Given the description of an element on the screen output the (x, y) to click on. 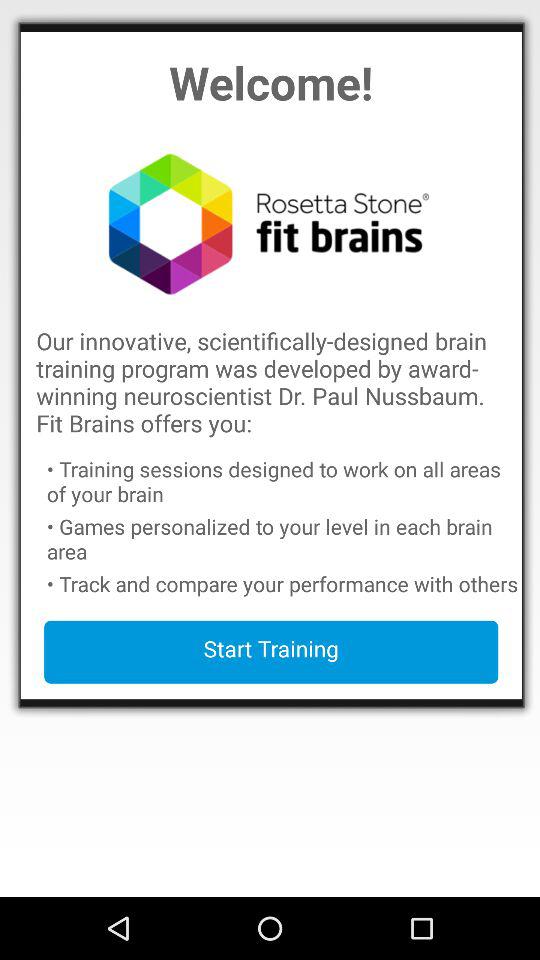
open app below track and compare (271, 651)
